Given the description of an element on the screen output the (x, y) to click on. 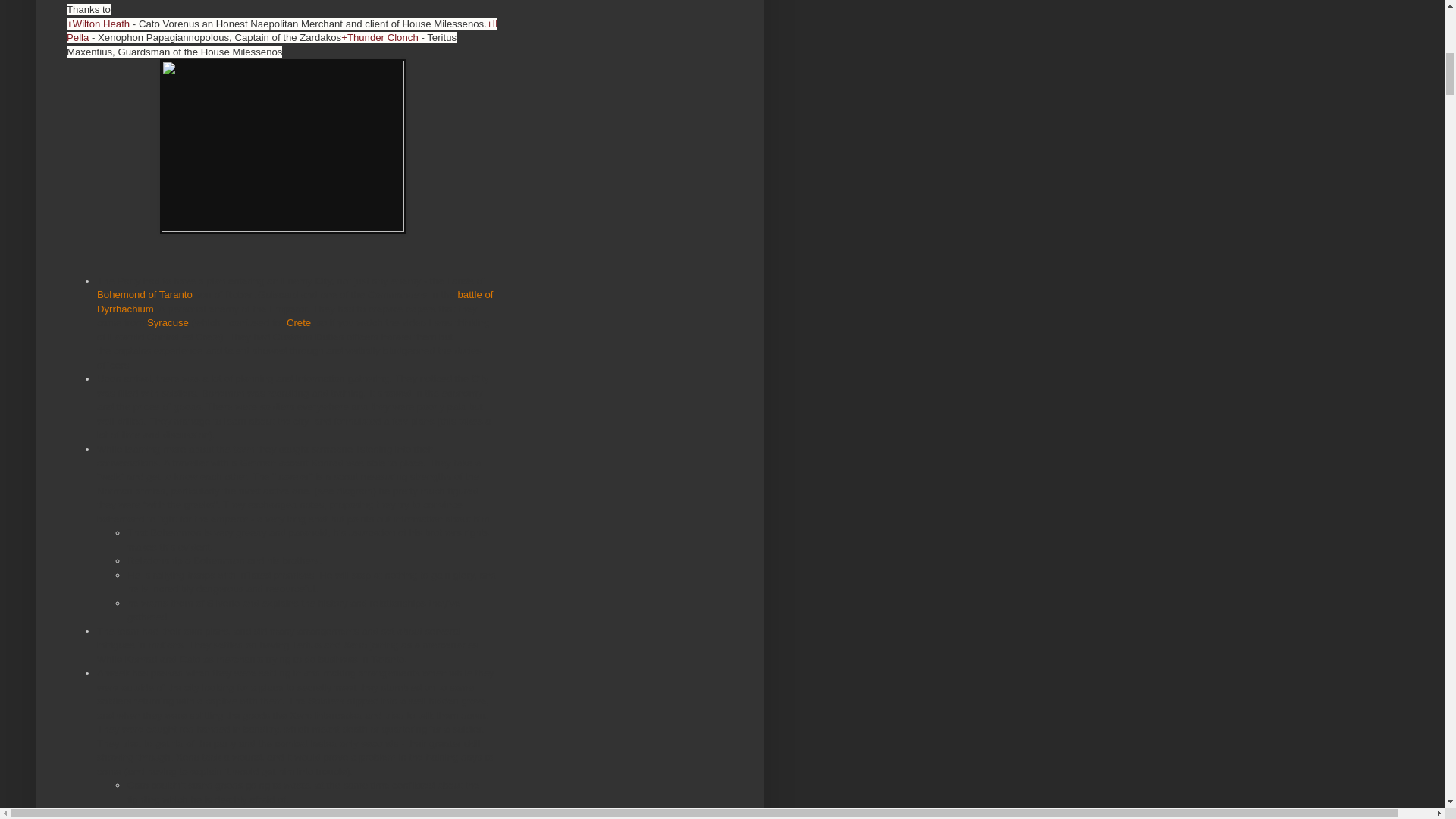
Syracuse (168, 322)
Crete (298, 322)
Bohemond of Taranto (144, 294)
battle of Dyrrhachium (295, 301)
